Given the description of an element on the screen output the (x, y) to click on. 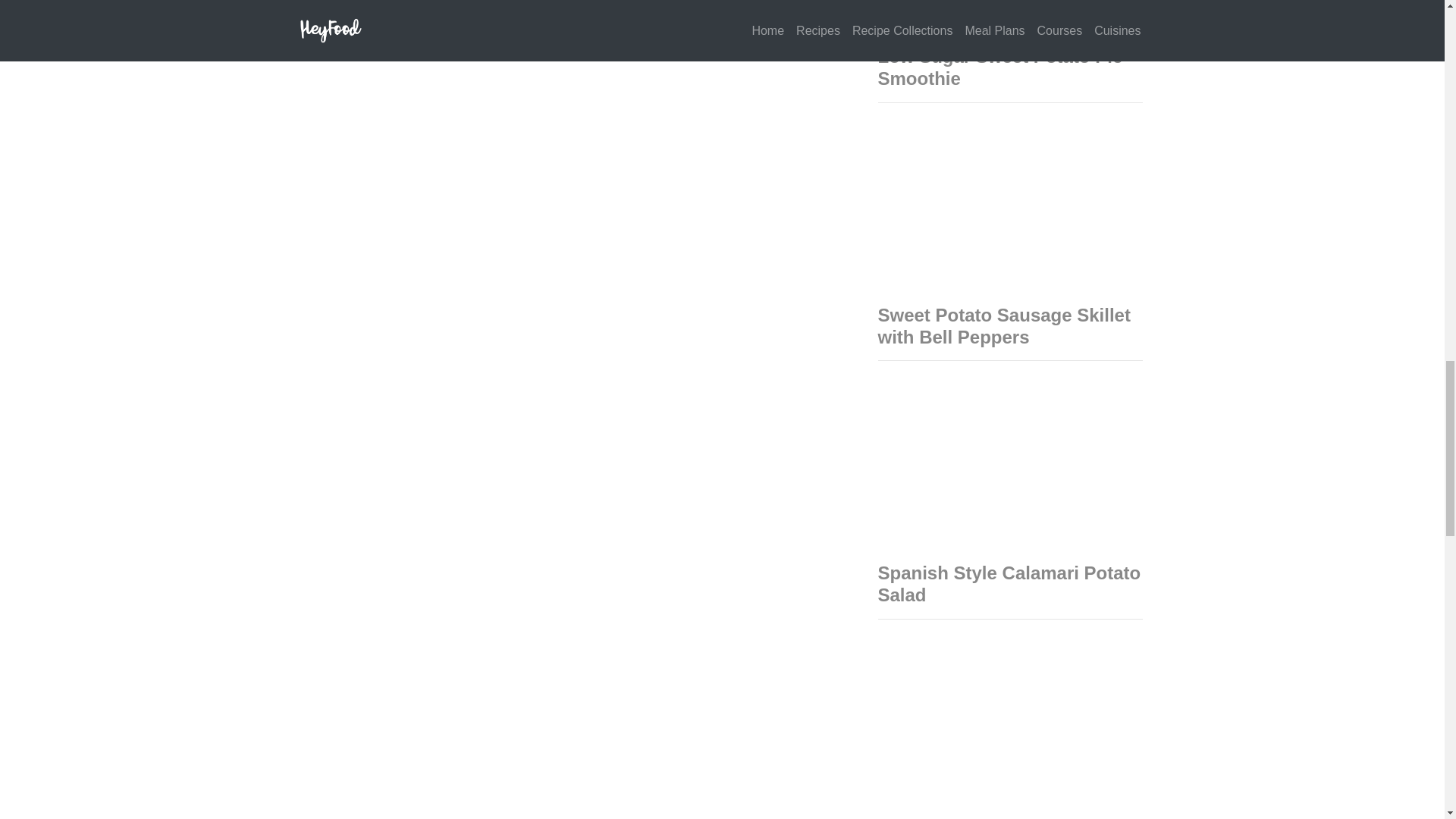
Spanish Style Calamari Potato Salad (1009, 583)
Sweet Potato Sausage Skillet with Bell Peppers (1004, 325)
Low Sugar Sweet Potato Pie Smoothie (999, 66)
